Given the description of an element on the screen output the (x, y) to click on. 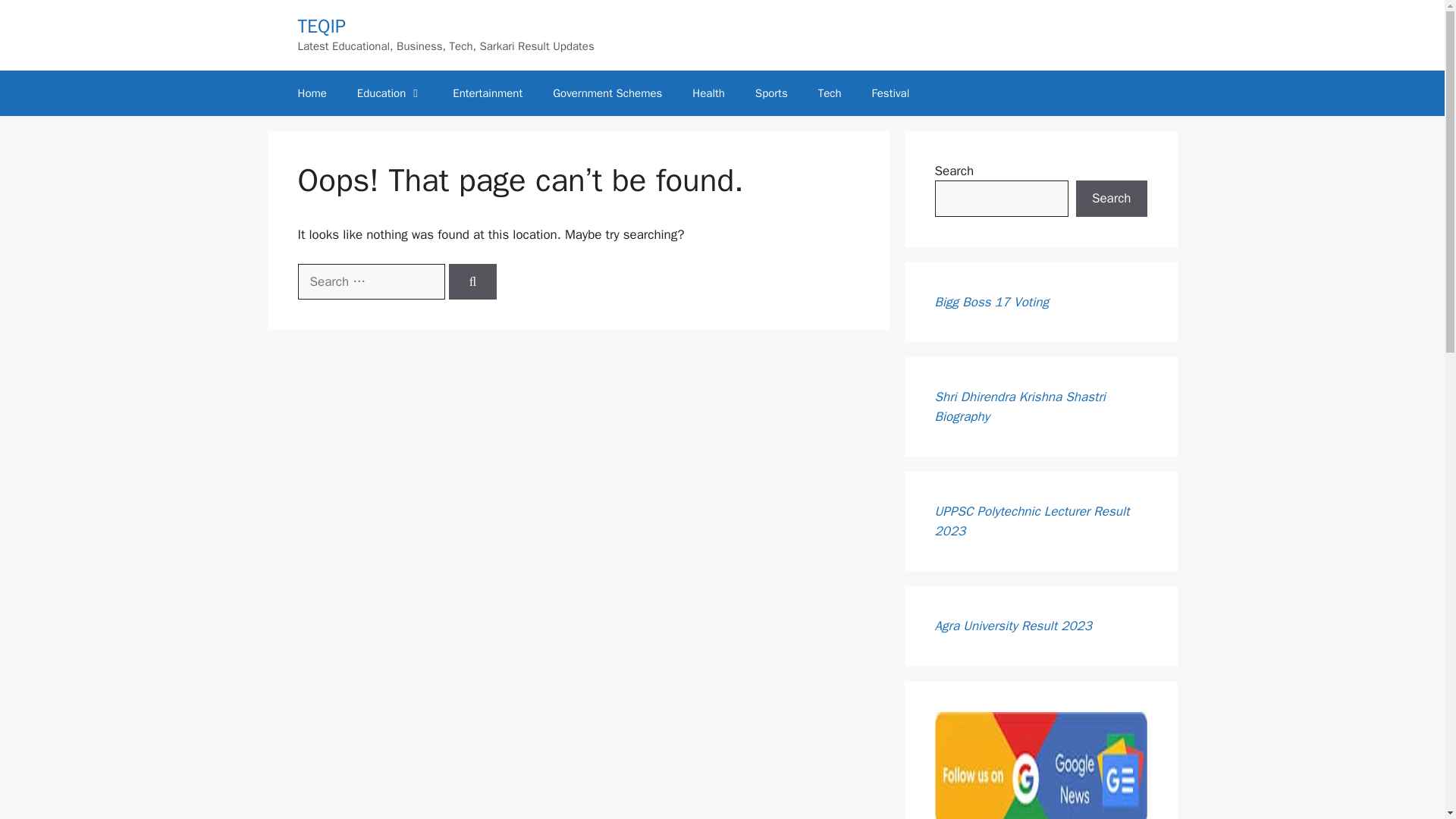
Festival (890, 92)
Agra University Result 2023 (1013, 625)
Search (1111, 198)
TEQIP (321, 25)
Sports (771, 92)
Health (708, 92)
Education (390, 92)
Shri Dhirendra Krishna Shastri (1019, 396)
Home (311, 92)
Tech (830, 92)
Search for: (370, 281)
Entertainment (487, 92)
Bigg Boss 17 Voting (991, 302)
Government Schemes (607, 92)
UPPSC Polytechnic Lecturer Result 2023 (1031, 520)
